Given the description of an element on the screen output the (x, y) to click on. 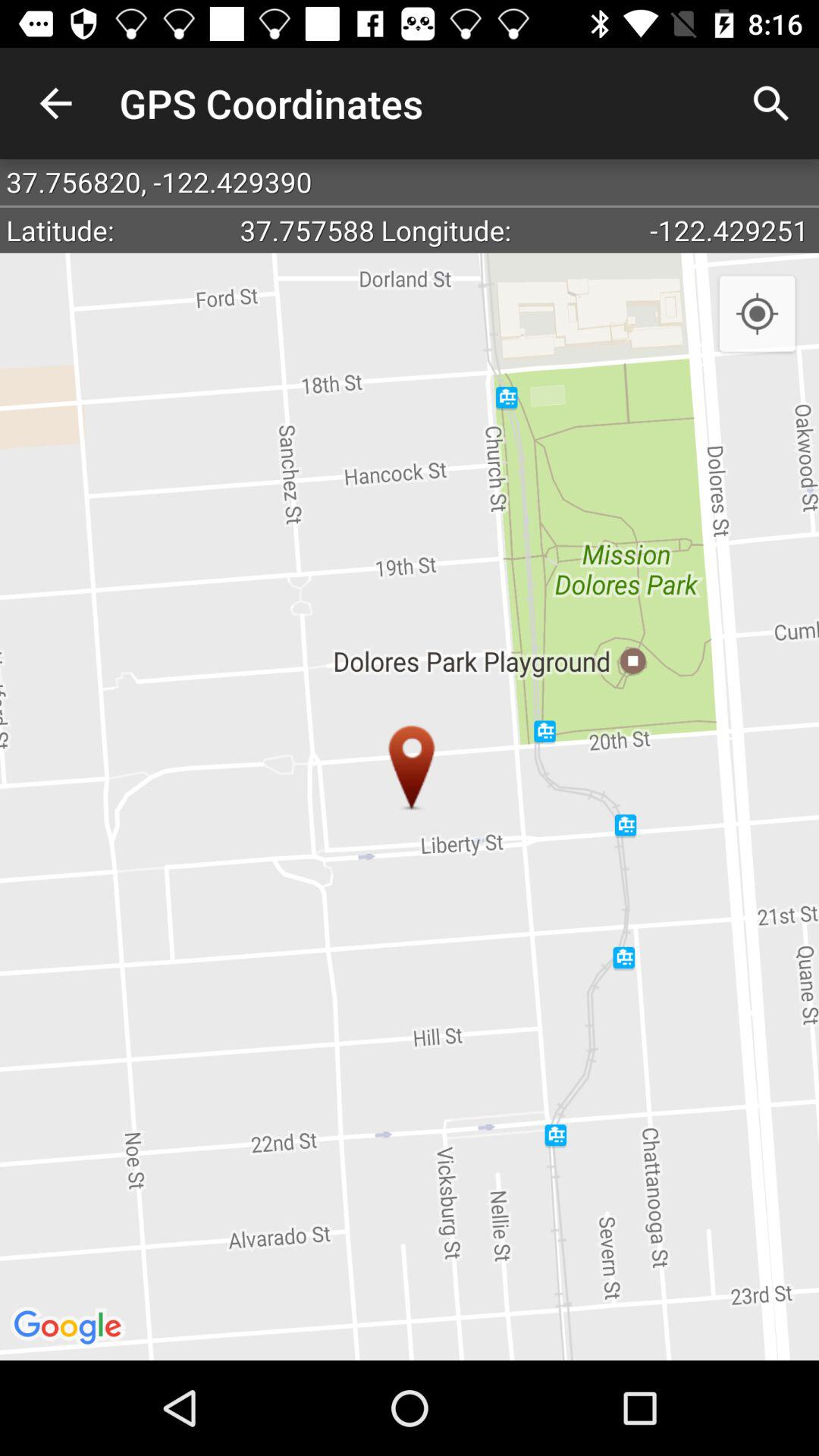
click the item above the 37 756820 122 icon (771, 103)
